Given the description of an element on the screen output the (x, y) to click on. 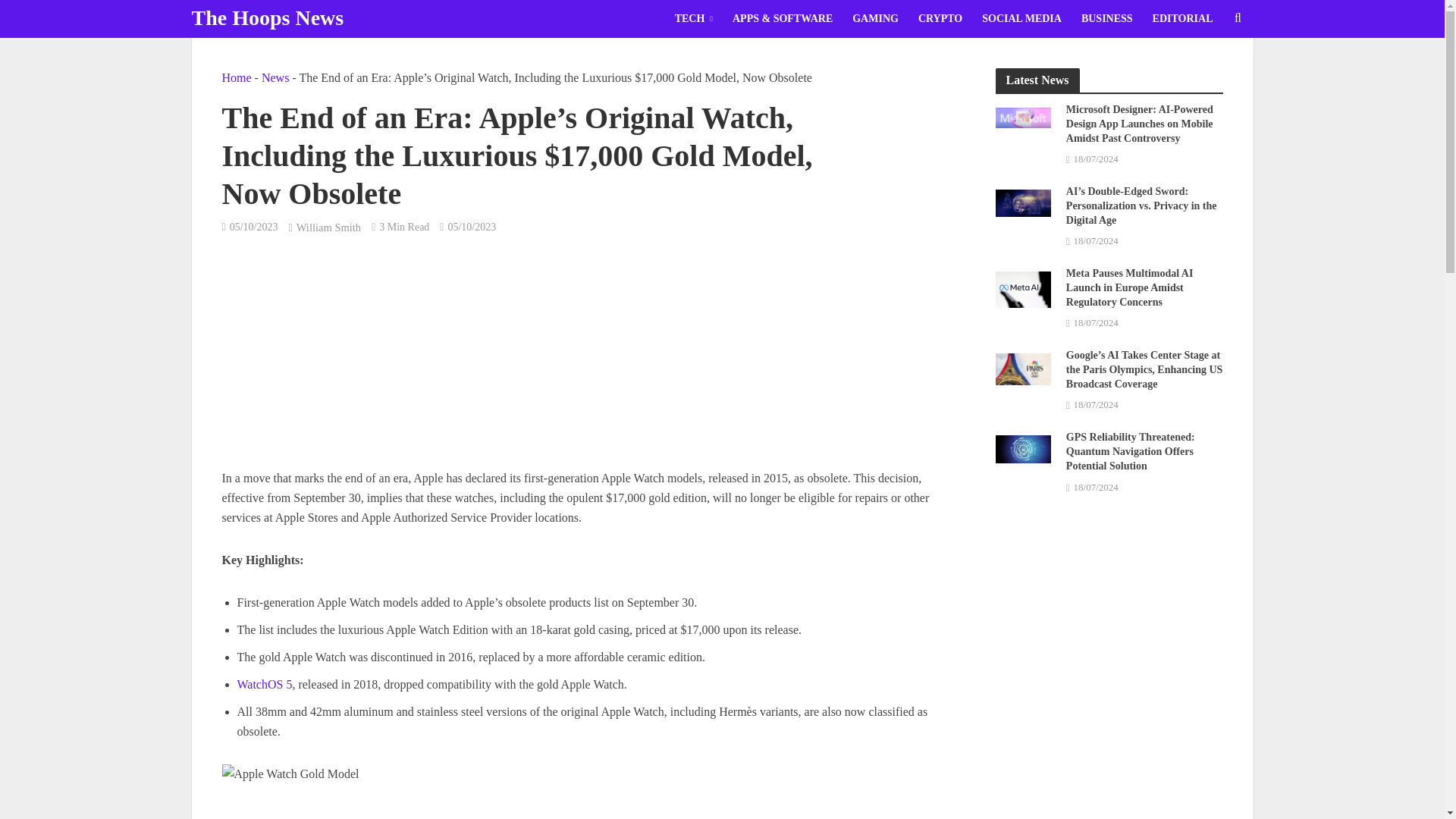
Home (235, 77)
WatchOS 5 (263, 685)
SOCIAL MEDIA (1021, 18)
BUSINESS (1106, 18)
TECH (693, 18)
CRYPTO (940, 18)
News (275, 77)
EDITORIAL (1182, 18)
GAMING (875, 18)
William Smith (329, 228)
